Given the description of an element on the screen output the (x, y) to click on. 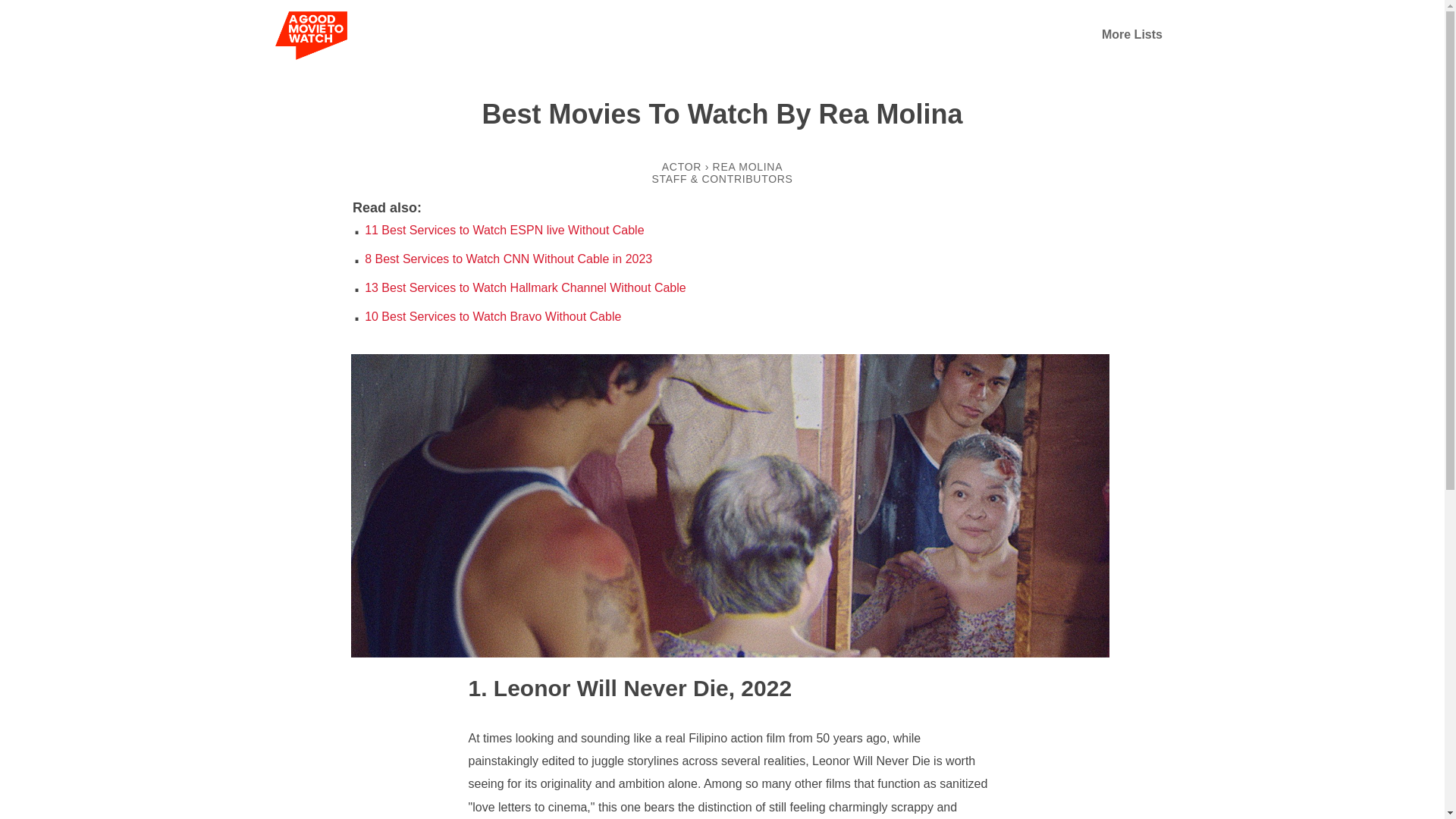
More Lists (1132, 34)
Leonor Will Never Die (598, 687)
